Given the description of an element on the screen output the (x, y) to click on. 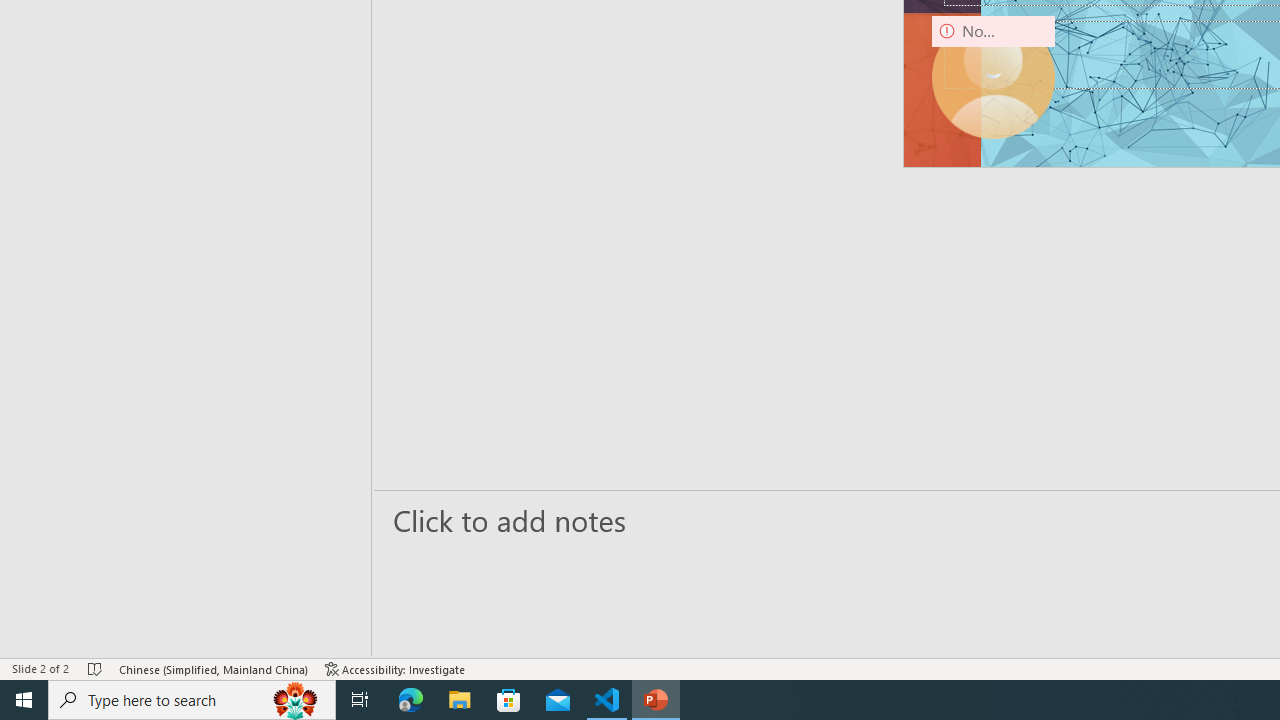
Camera 9, No camera detected. (993, 77)
Spell Check No Errors (95, 668)
Accessibility Checker Accessibility: Investigate (395, 668)
